Given the description of an element on the screen output the (x, y) to click on. 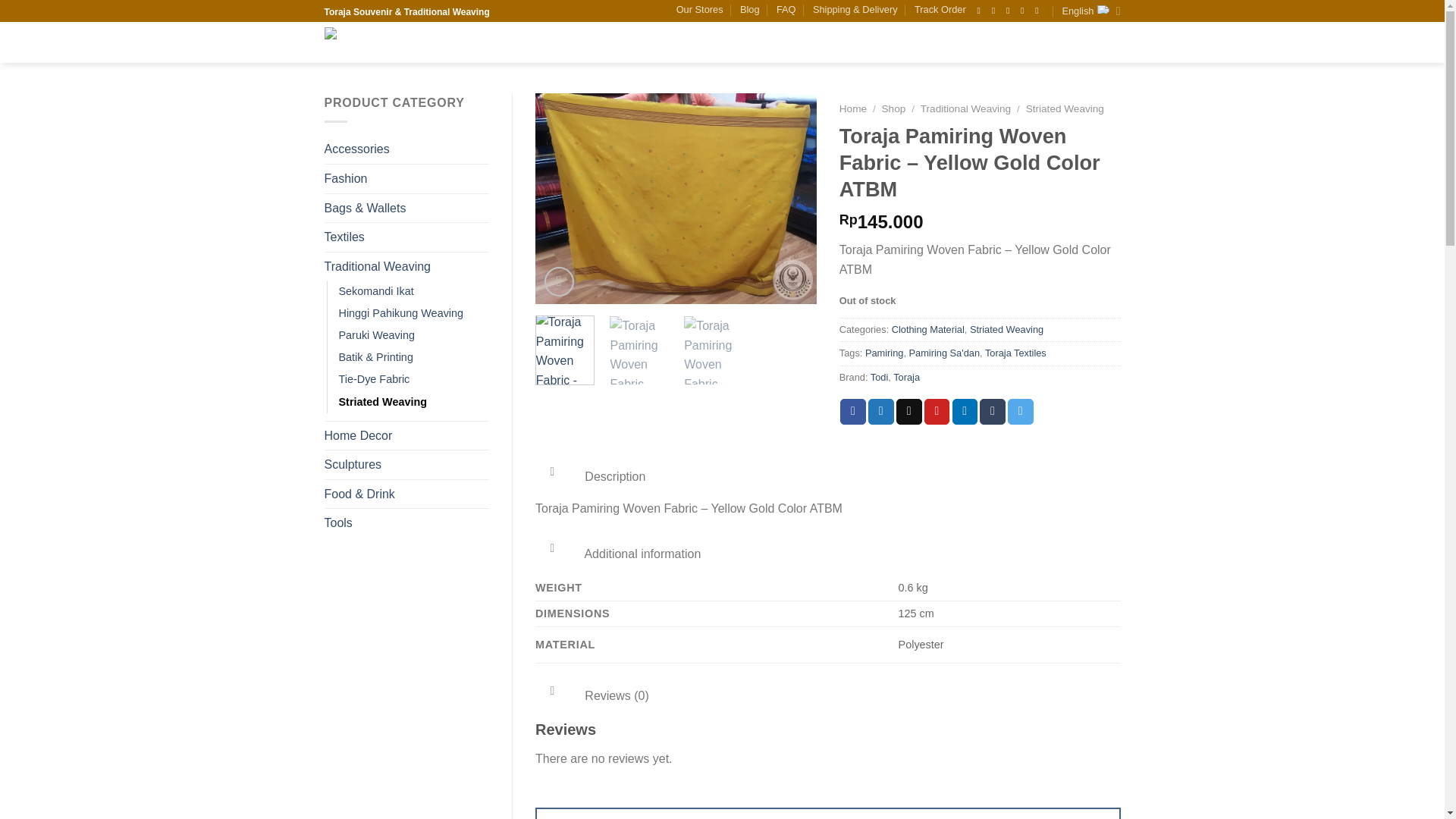
Accessories (406, 149)
FAQ (786, 9)
Share on Facebook (853, 411)
Our Stores (700, 9)
Share on Twitter (880, 411)
PRODUCT (591, 42)
BLOG (804, 42)
Email to a Friend (908, 411)
Track Order (940, 9)
